Given the description of an element on the screen output the (x, y) to click on. 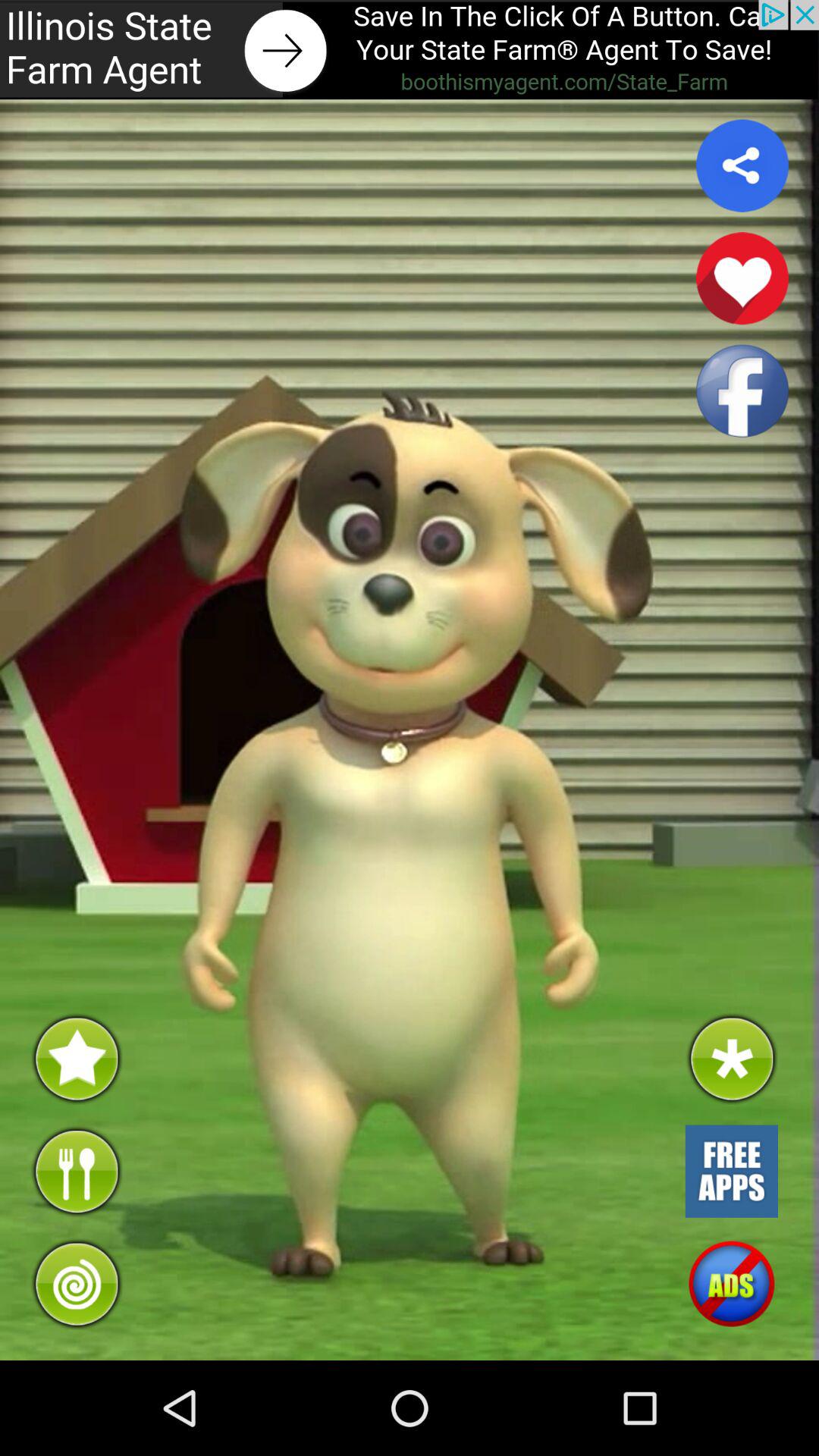
block advertisement (731, 1283)
